Given the description of an element on the screen output the (x, y) to click on. 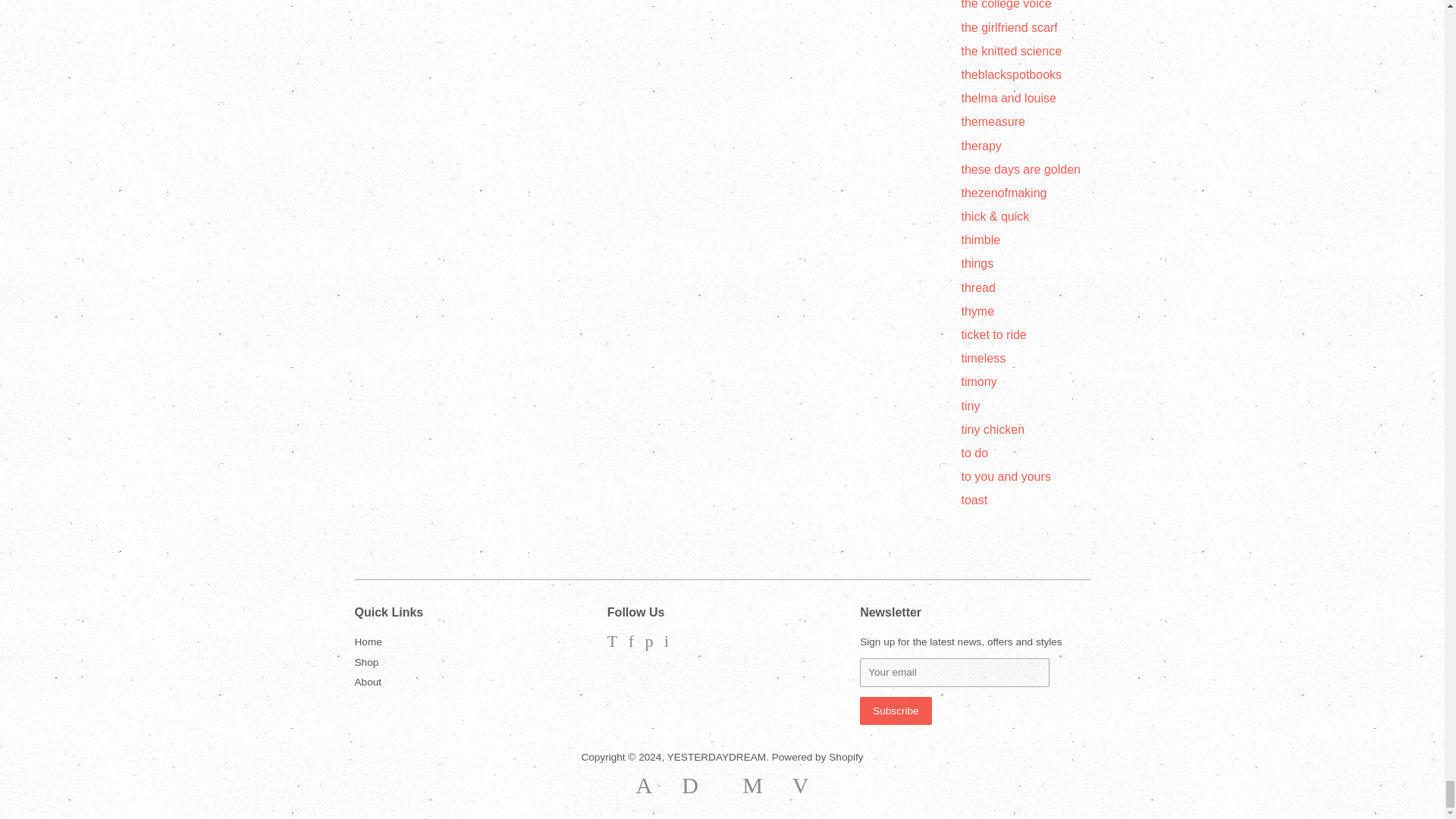
Subscribe (895, 710)
